Given the description of an element on the screen output the (x, y) to click on. 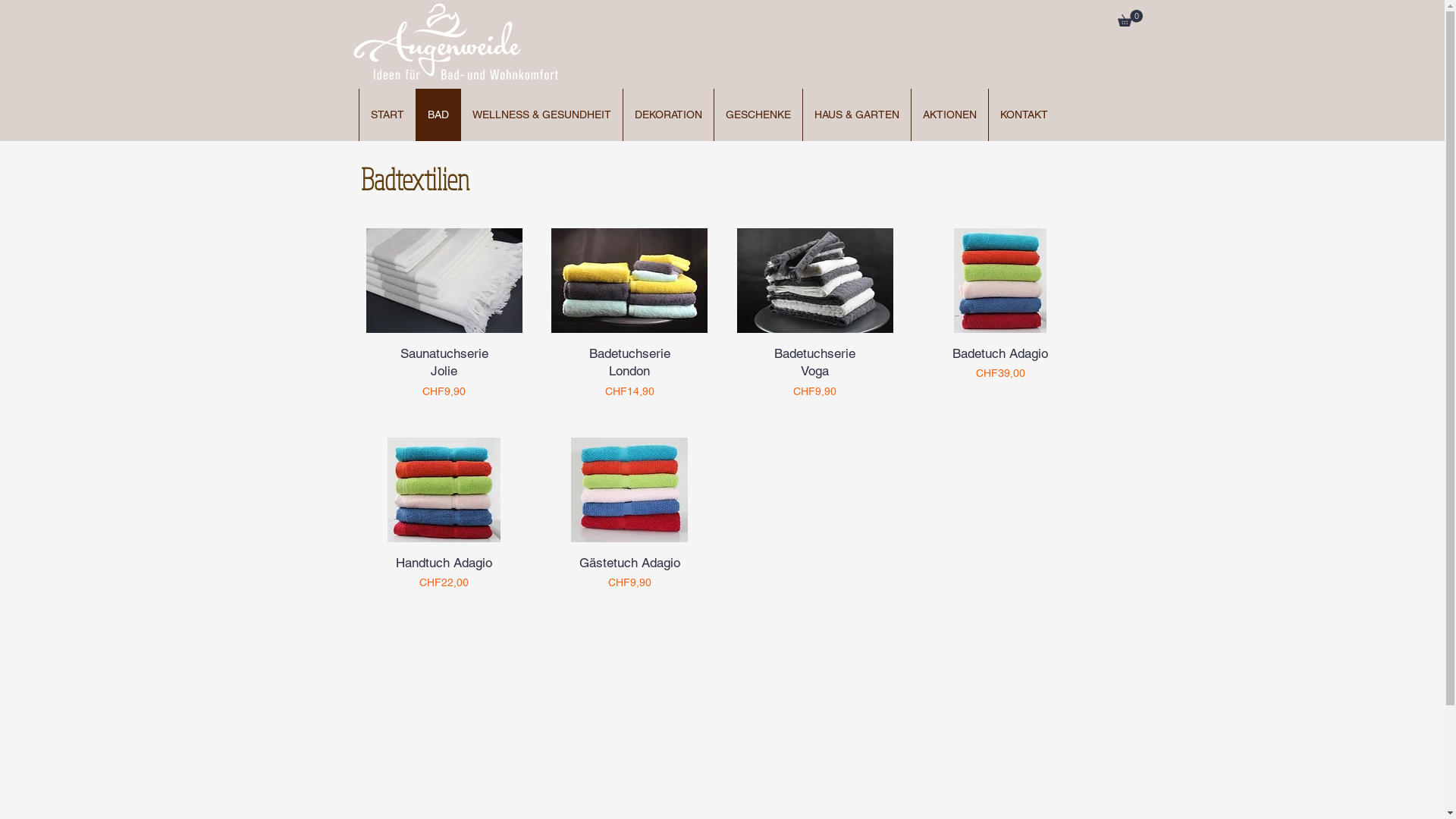
Badetuchserie Voga
Preis
CHF9,90 Element type: text (814, 372)
Badetuch Adagio
Preis
CHF39,00 Element type: text (1000, 372)
START Element type: text (386, 114)
BAD Element type: text (437, 114)
GESCHENKE Element type: text (757, 114)
0 Element type: text (1129, 17)
AKTIONEN Element type: text (949, 114)
Badetuchserie London
Preis
CHF14,90 Element type: text (629, 372)
KONTAKT Element type: text (1023, 114)
Handtuch Adagio
Preis
CHF22,00 Element type: text (444, 572)
HAUS & GARTEN Element type: text (856, 114)
DEKORATION Element type: text (667, 114)
Saunatuchserie Jolie
Preis
CHF9,90 Element type: text (444, 372)
WELLNESS & GESUNDHEIT Element type: text (541, 114)
